Given the description of an element on the screen output the (x, y) to click on. 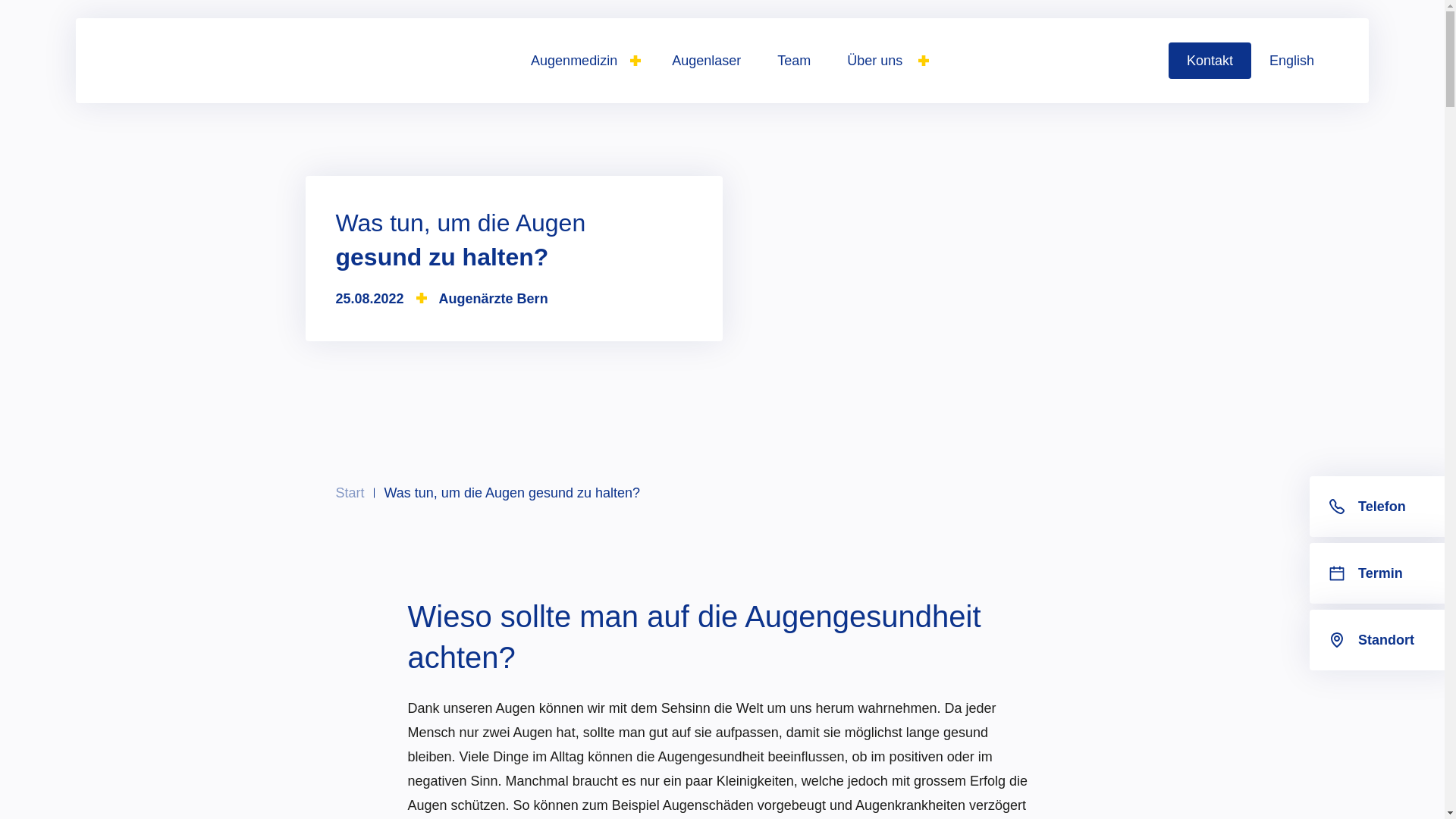
Augenlaser Element type: text (706, 60)
Augenmedizin Element type: text (582, 60)
Start Element type: text (349, 492)
Team Element type: text (793, 60)
Kontakt Element type: text (1209, 60)
English Element type: text (1291, 60)
